Given the description of an element on the screen output the (x, y) to click on. 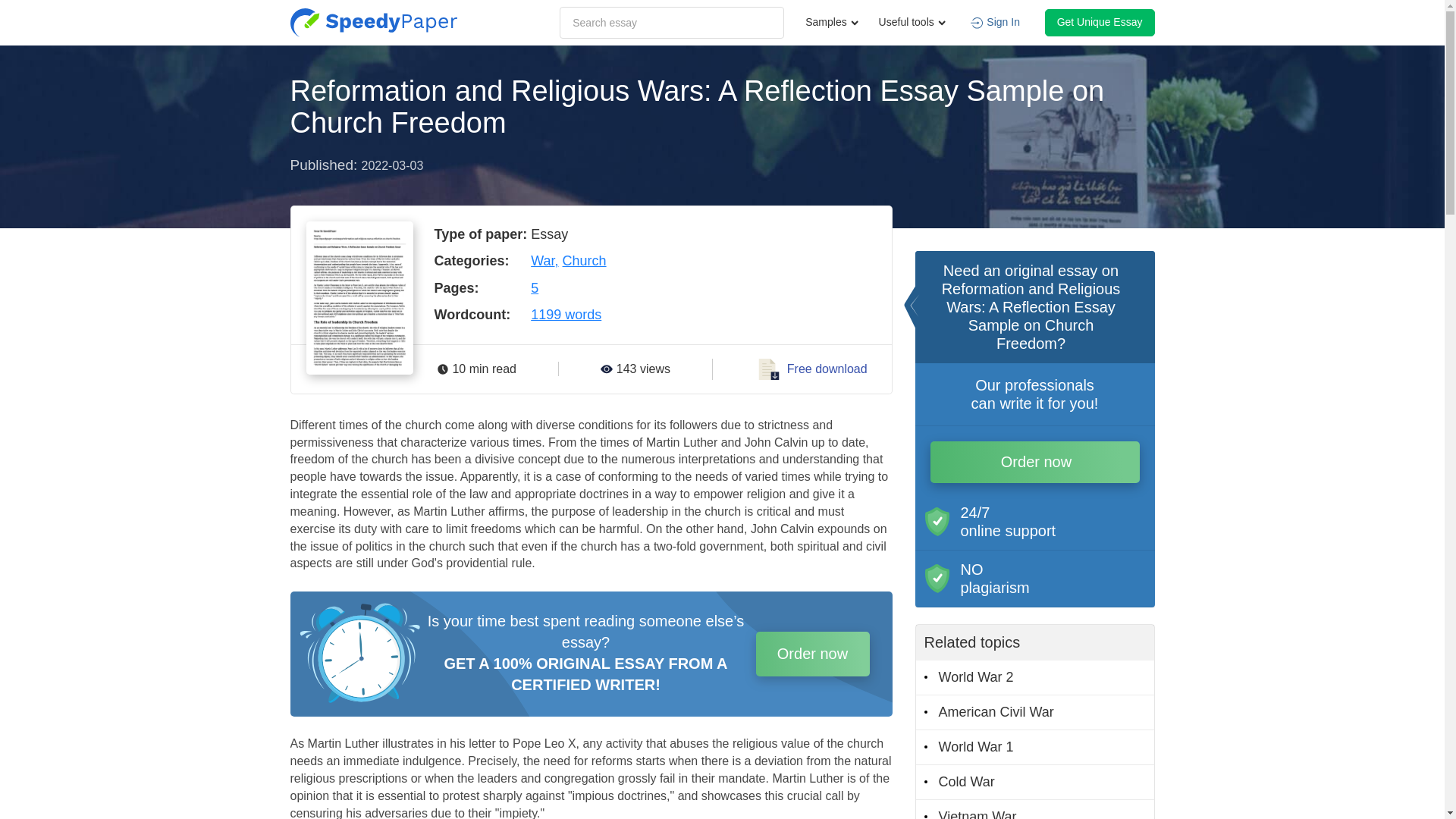
Get Unique Essay (1099, 22)
